Given the description of an element on the screen output the (x, y) to click on. 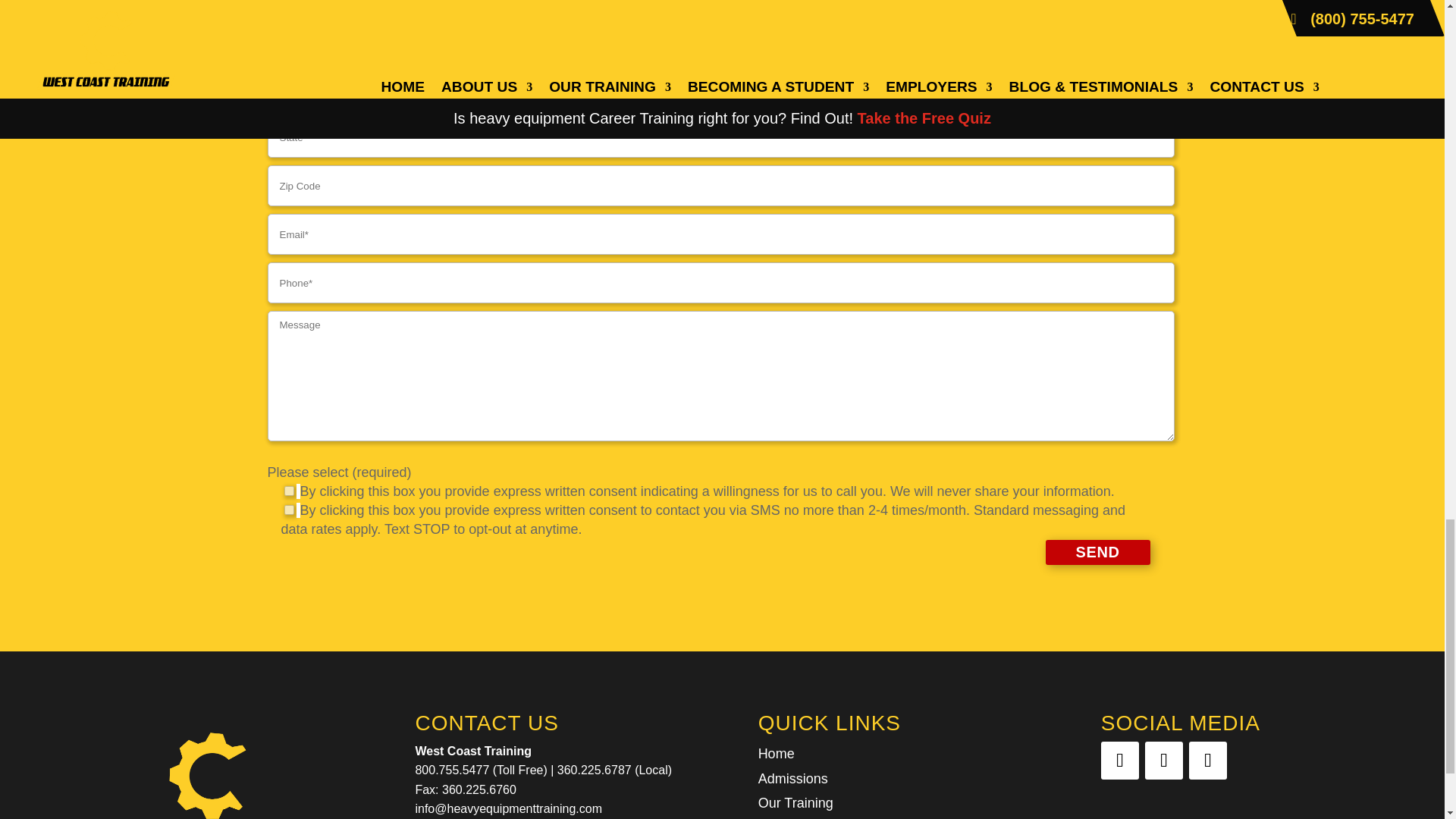
Follow on Instagram (1208, 760)
logo (207, 765)
send (1097, 552)
Follow on Facebook (1119, 760)
Follow on X (1163, 760)
